Given the description of an element on the screen output the (x, y) to click on. 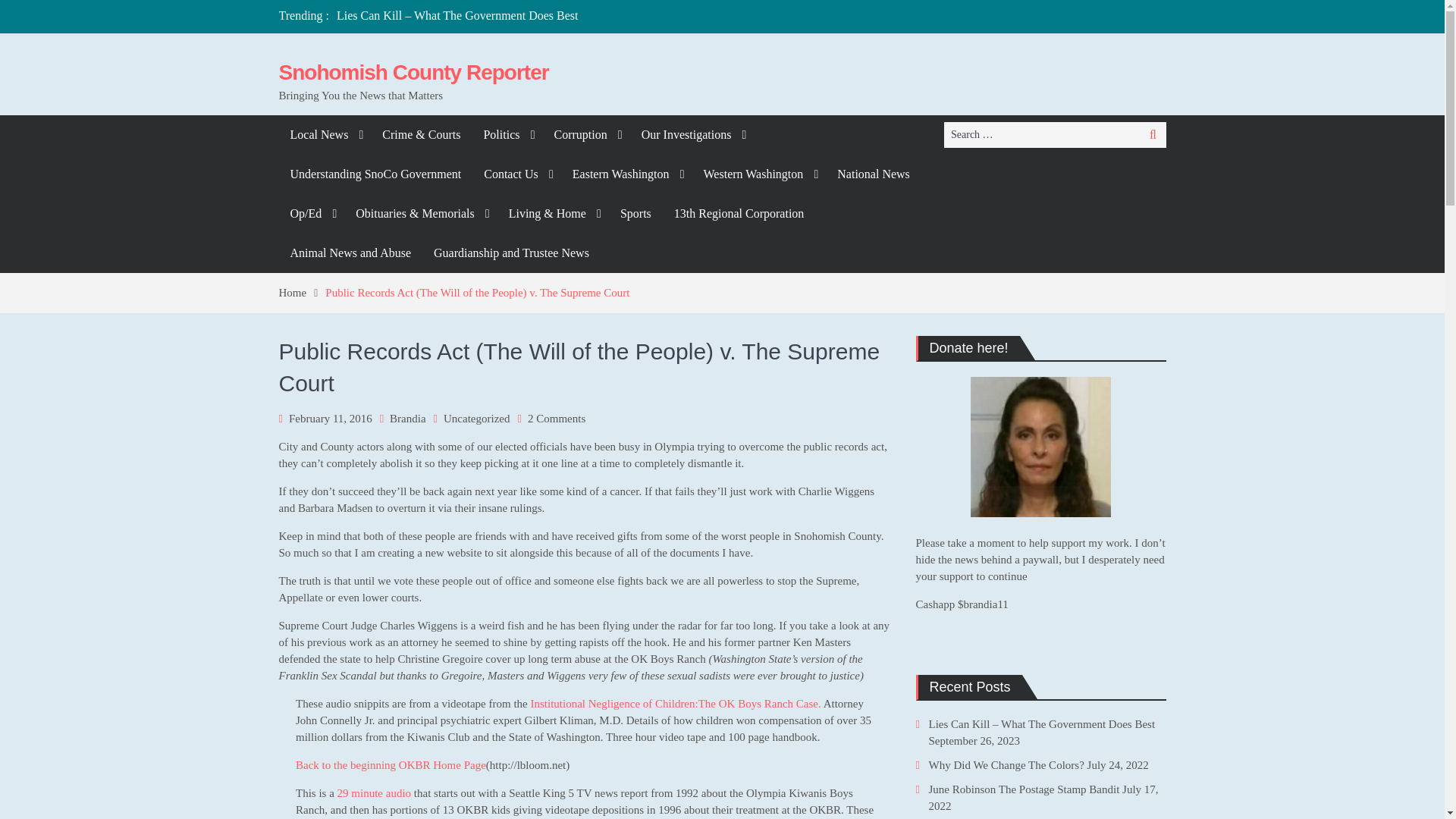
Politics (506, 134)
Corruption (584, 134)
Snohomish County Reporter (413, 72)
Local News (325, 134)
